Given the description of an element on the screen output the (x, y) to click on. 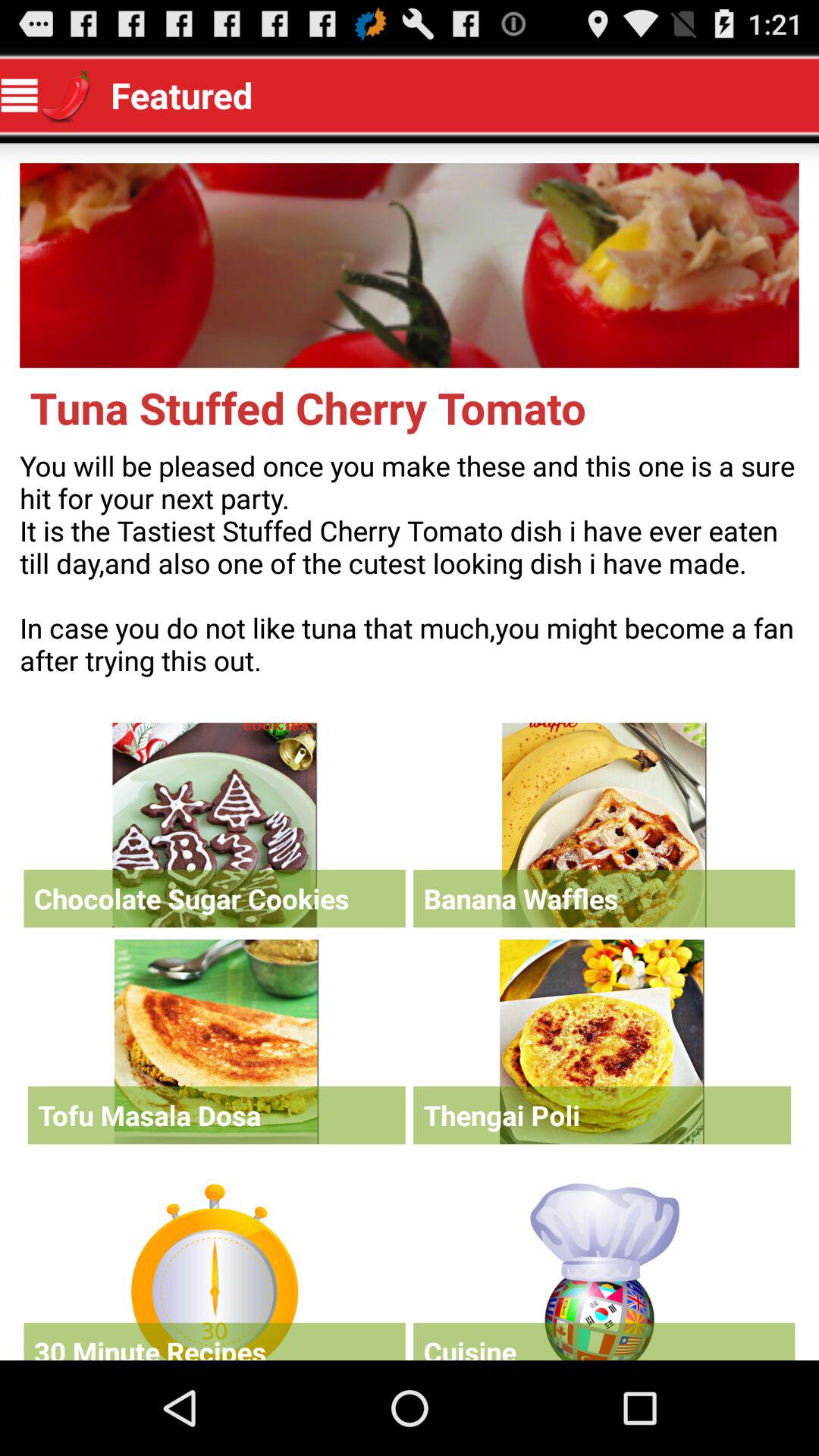
select tofu recipe (216, 1041)
